Given the description of an element on the screen output the (x, y) to click on. 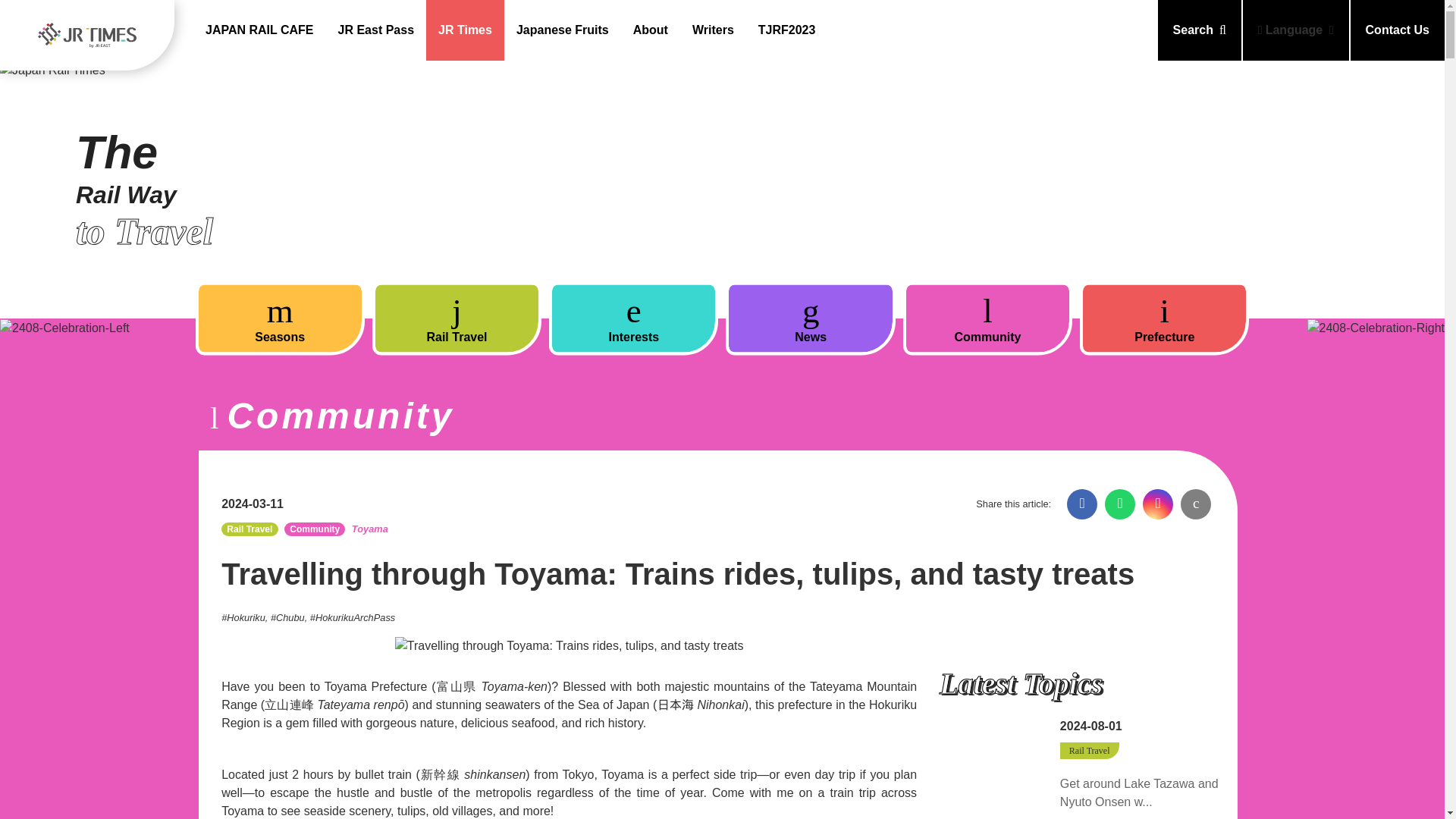
Community (986, 318)
Language (1296, 30)
Rail Travel (456, 318)
TJRF2023 (786, 30)
News (810, 318)
Japanese Fruits (562, 30)
JR East Pass (376, 30)
JR Times (464, 30)
Interests (632, 318)
Search (1199, 30)
